Given the description of an element on the screen output the (x, y) to click on. 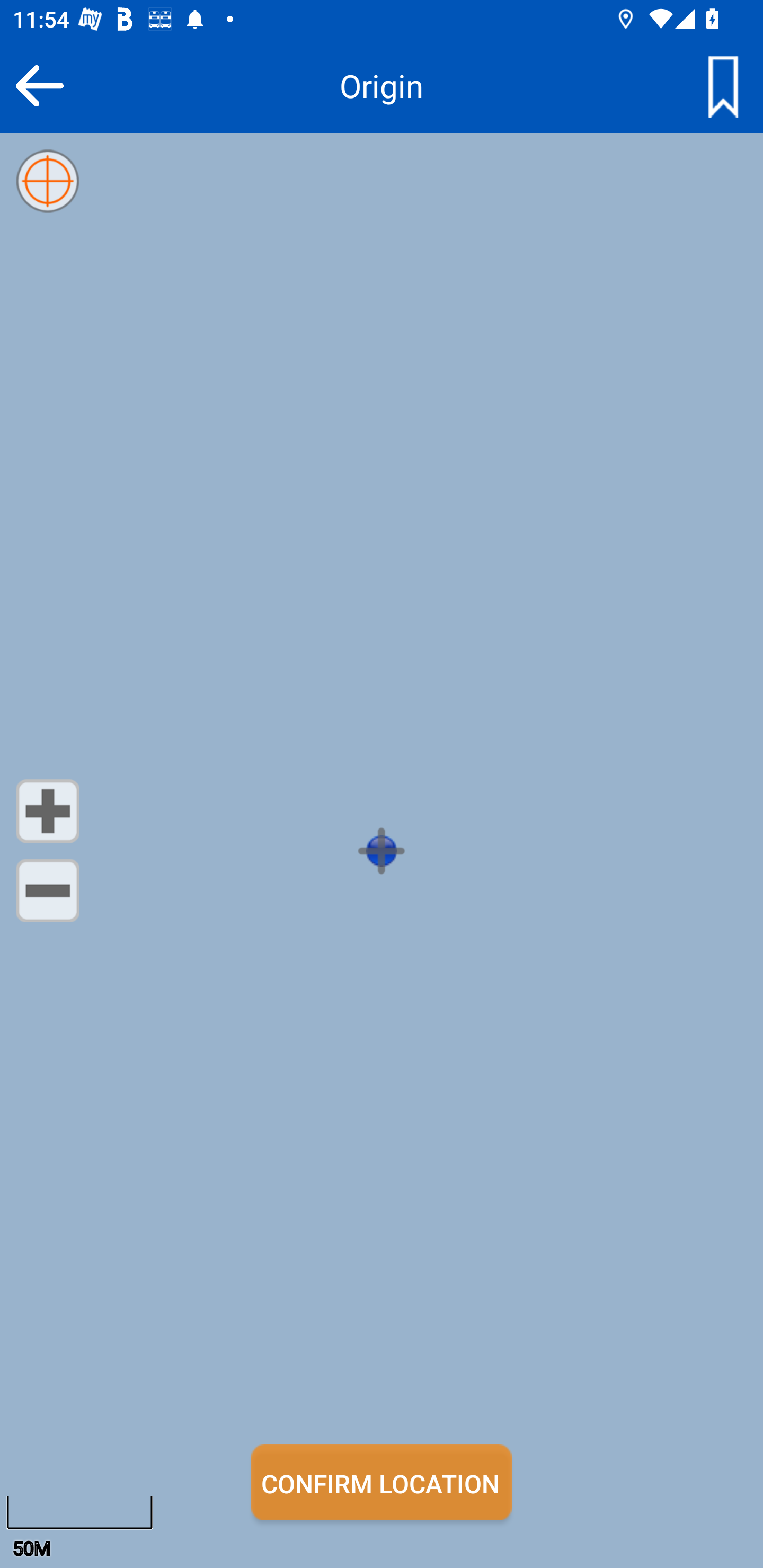
Add bookmark (723, 85)
Back (39, 85)
CONFIRM LOCATION (381, 1482)
